Given the description of an element on the screen output the (x, y) to click on. 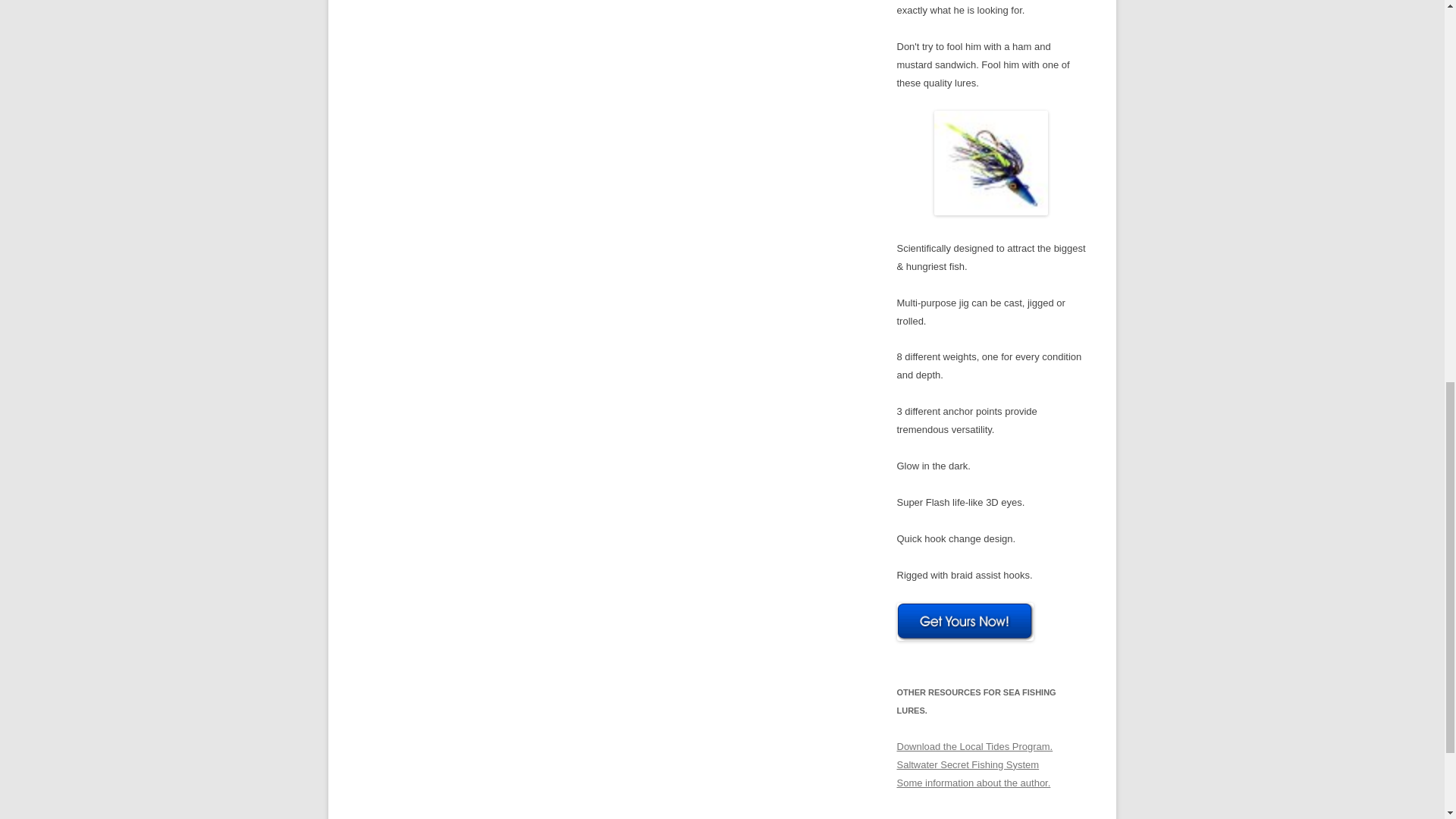
Download the Local Tides Program. (974, 746)
Some information about the author. (972, 782)
Saltwater Secret Fishing System (967, 764)
